Given the description of an element on the screen output the (x, y) to click on. 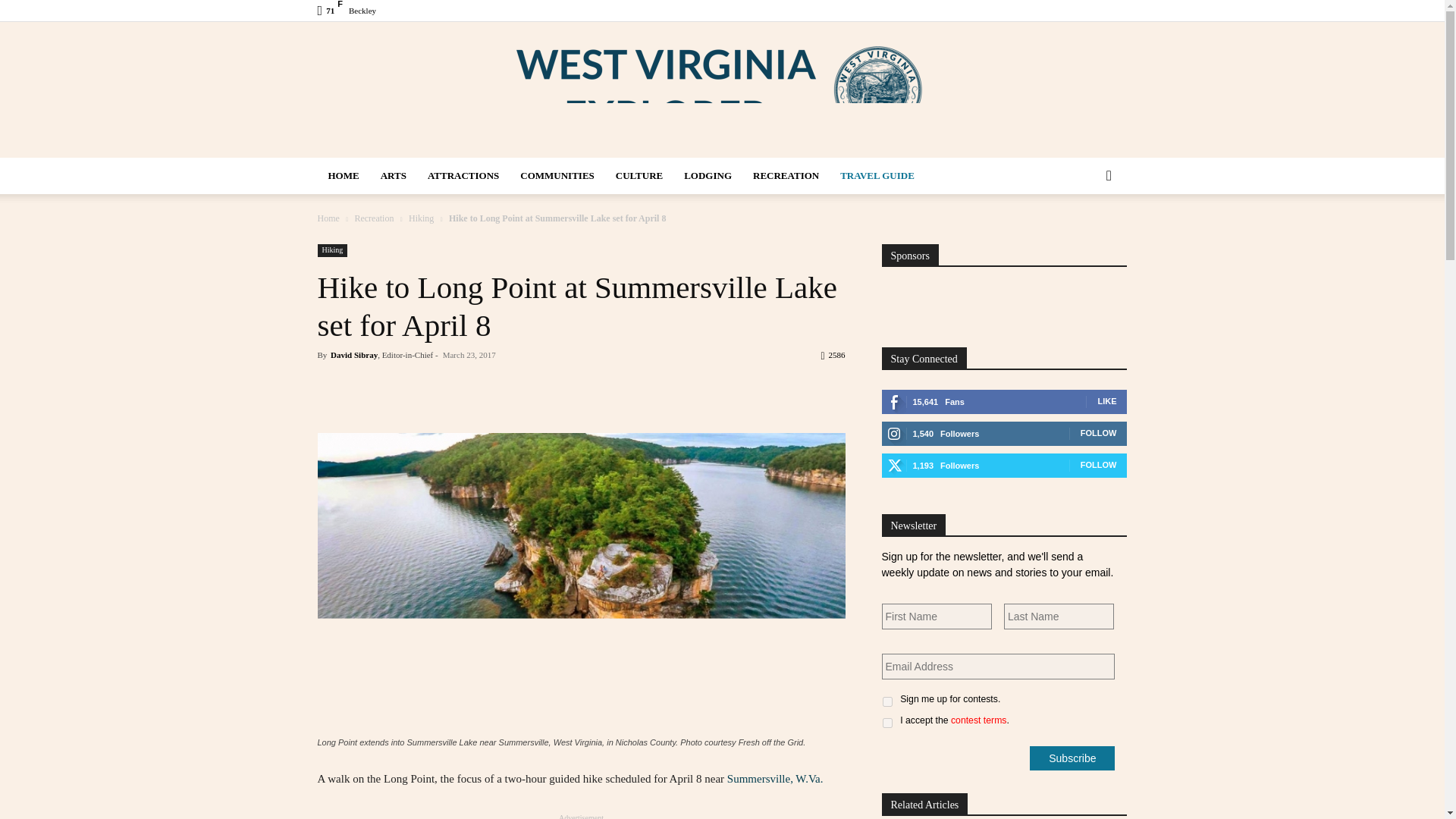
Subscribe (1072, 758)
I accept the contest terms. (887, 723)
Sign me up for contests. (887, 701)
